Given the description of an element on the screen output the (x, y) to click on. 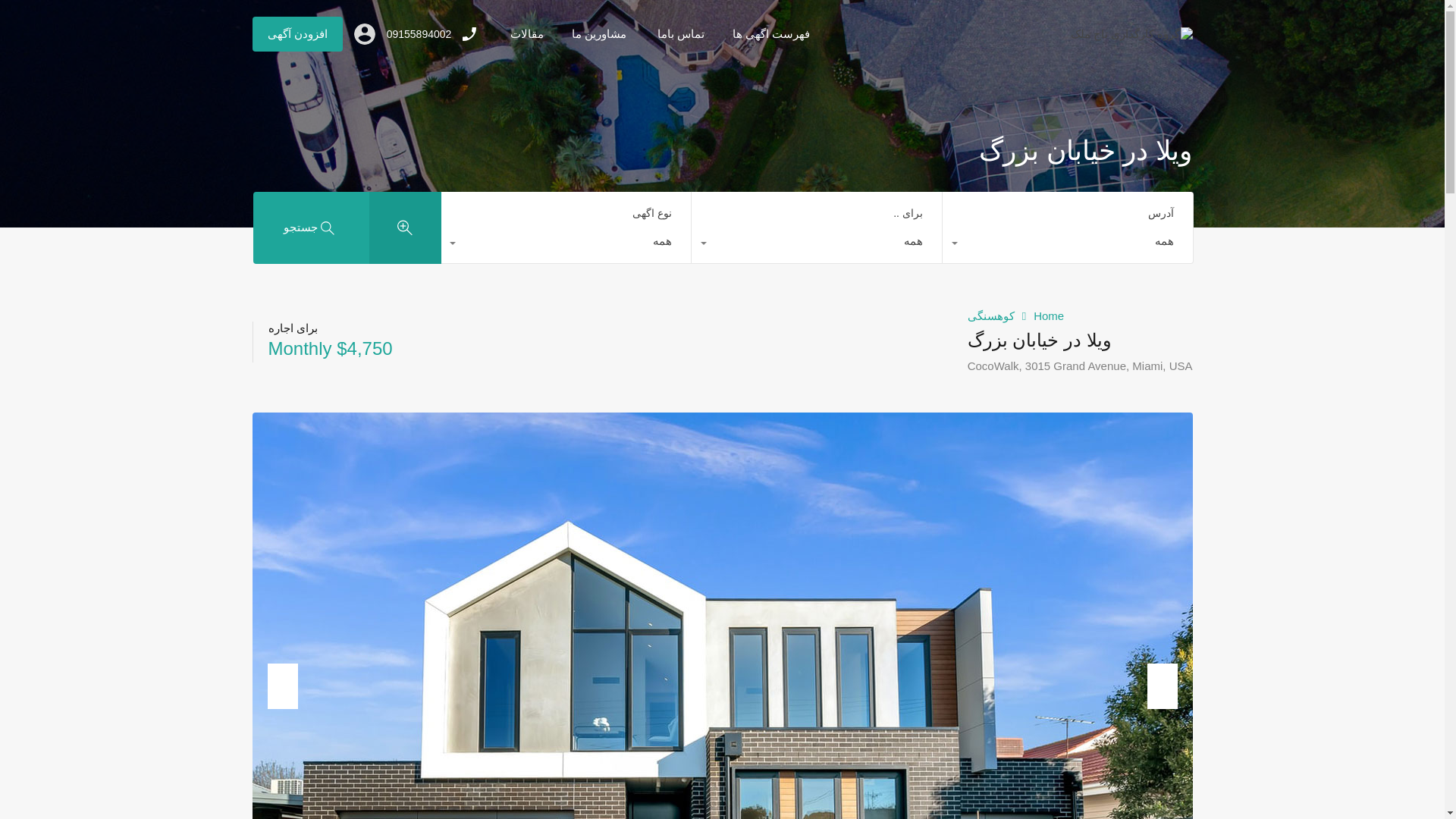
Home (1048, 315)
09155894002 (419, 33)
